Given the description of an element on the screen output the (x, y) to click on. 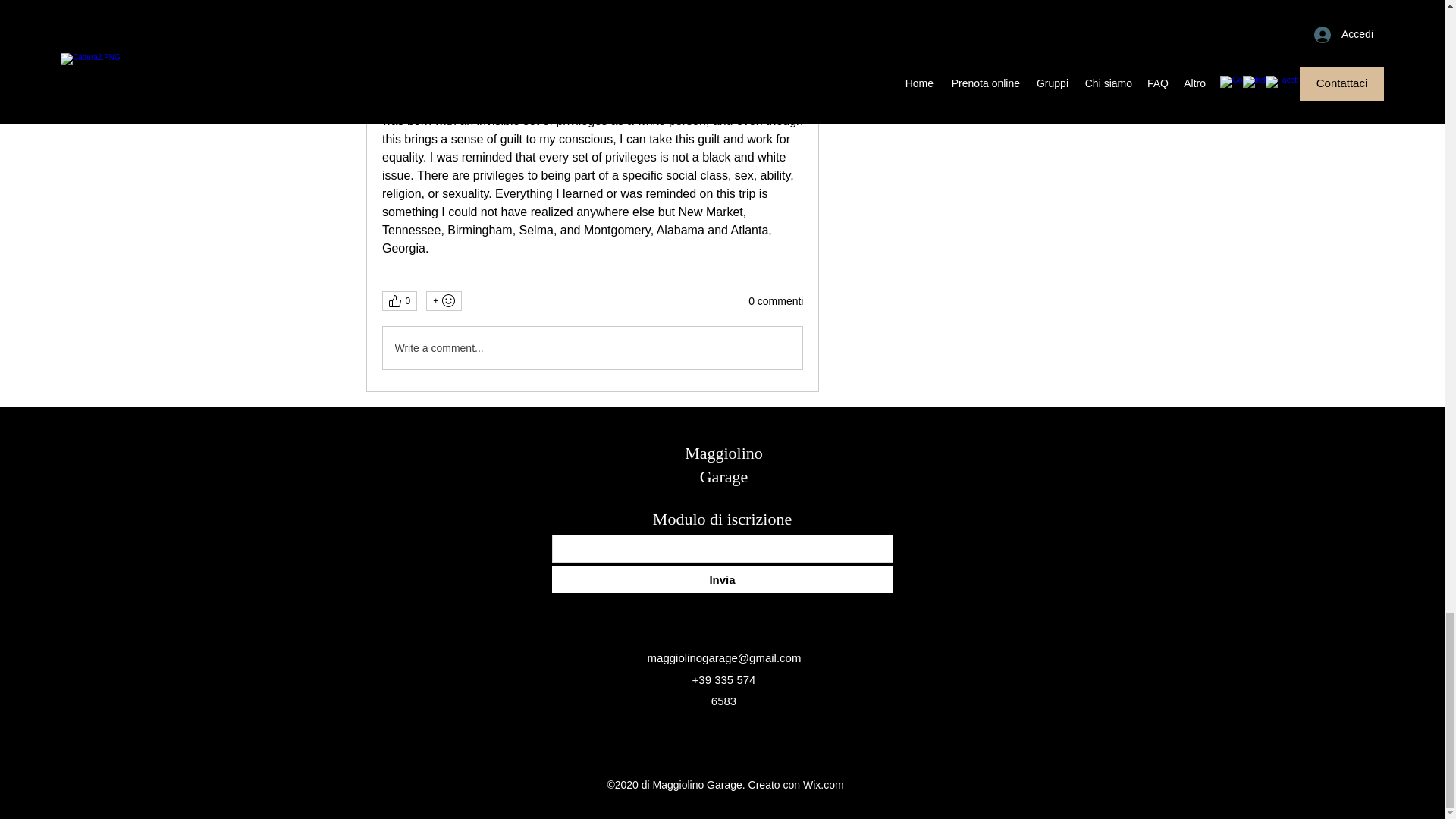
Write a comment... (591, 347)
0 commenti (775, 301)
